Given the description of an element on the screen output the (x, y) to click on. 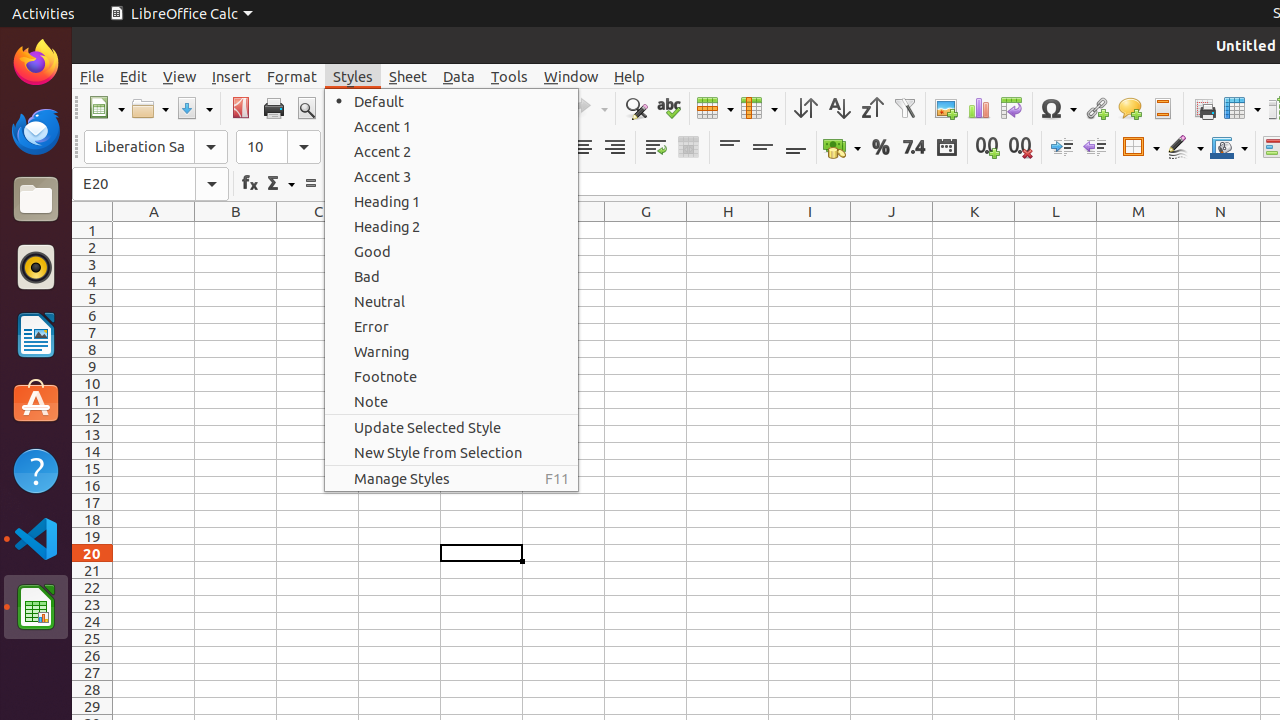
Align Right Element type: push-button (614, 147)
Formula Element type: push-button (310, 183)
Bad Element type: radio-menu-item (451, 276)
Center Vertically Element type: push-button (762, 147)
Function Wizard Element type: push-button (249, 183)
